Given the description of an element on the screen output the (x, y) to click on. 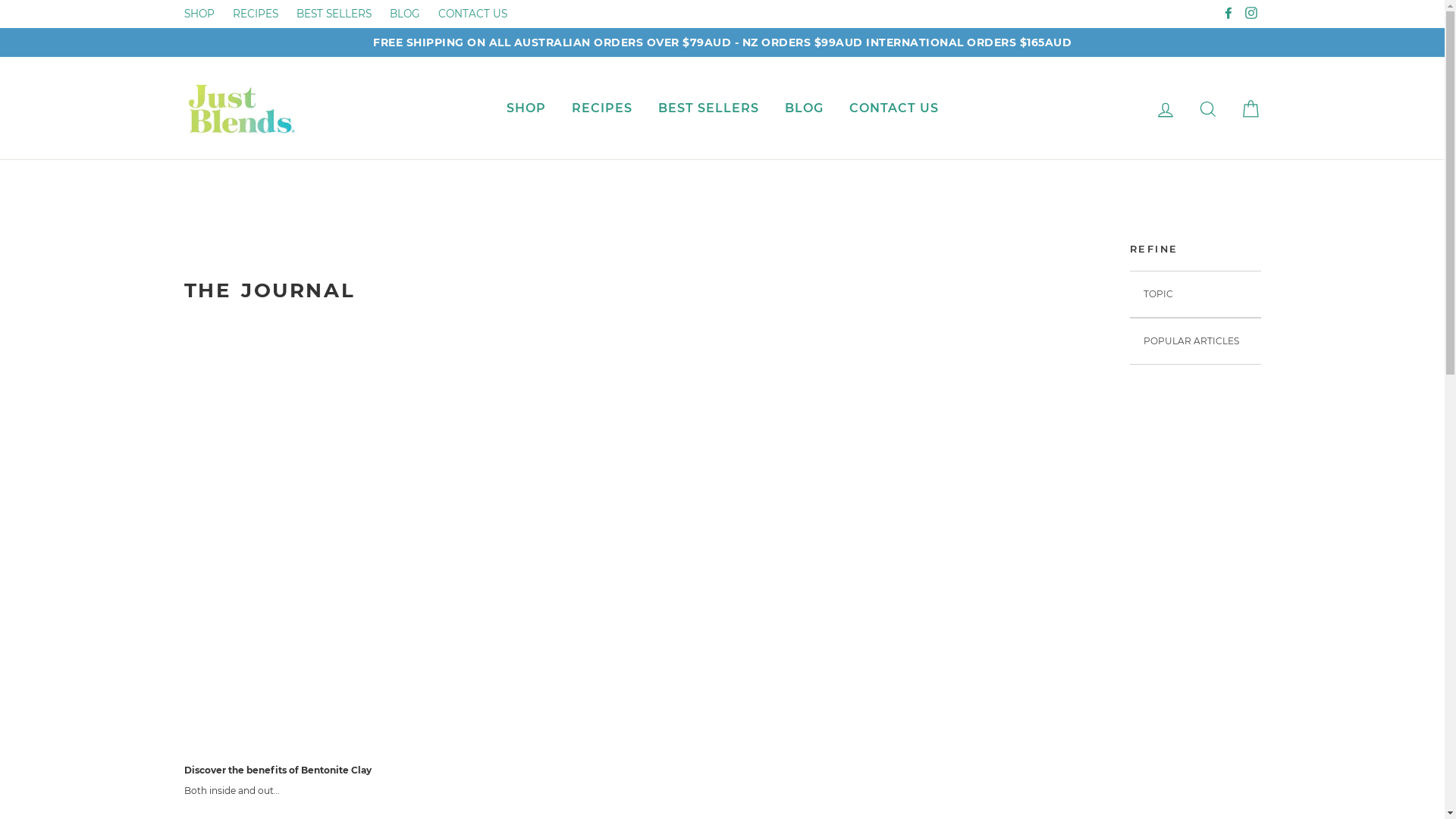
Instagram Element type: text (1250, 14)
Search Element type: text (1206, 108)
BEST SELLERS Element type: text (333, 14)
SHOP Element type: text (525, 108)
Discover the benefits of Bentonite Clay Element type: text (276, 769)
RECIPES Element type: text (601, 108)
BLOG Element type: text (803, 108)
BEST SELLERS Element type: text (707, 108)
RECIPES Element type: text (254, 14)
Log in Element type: text (1164, 108)
CONTACT US Element type: text (893, 108)
SHOP Element type: text (198, 14)
BLOG Element type: text (404, 14)
POPULAR ARTICLES Element type: text (1195, 340)
Skip to content Element type: text (0, 0)
Facebook Element type: text (1227, 14)
Cart Element type: text (1249, 108)
TOPIC Element type: text (1195, 293)
CONTACT US Element type: text (472, 14)
